Given the description of an element on the screen output the (x, y) to click on. 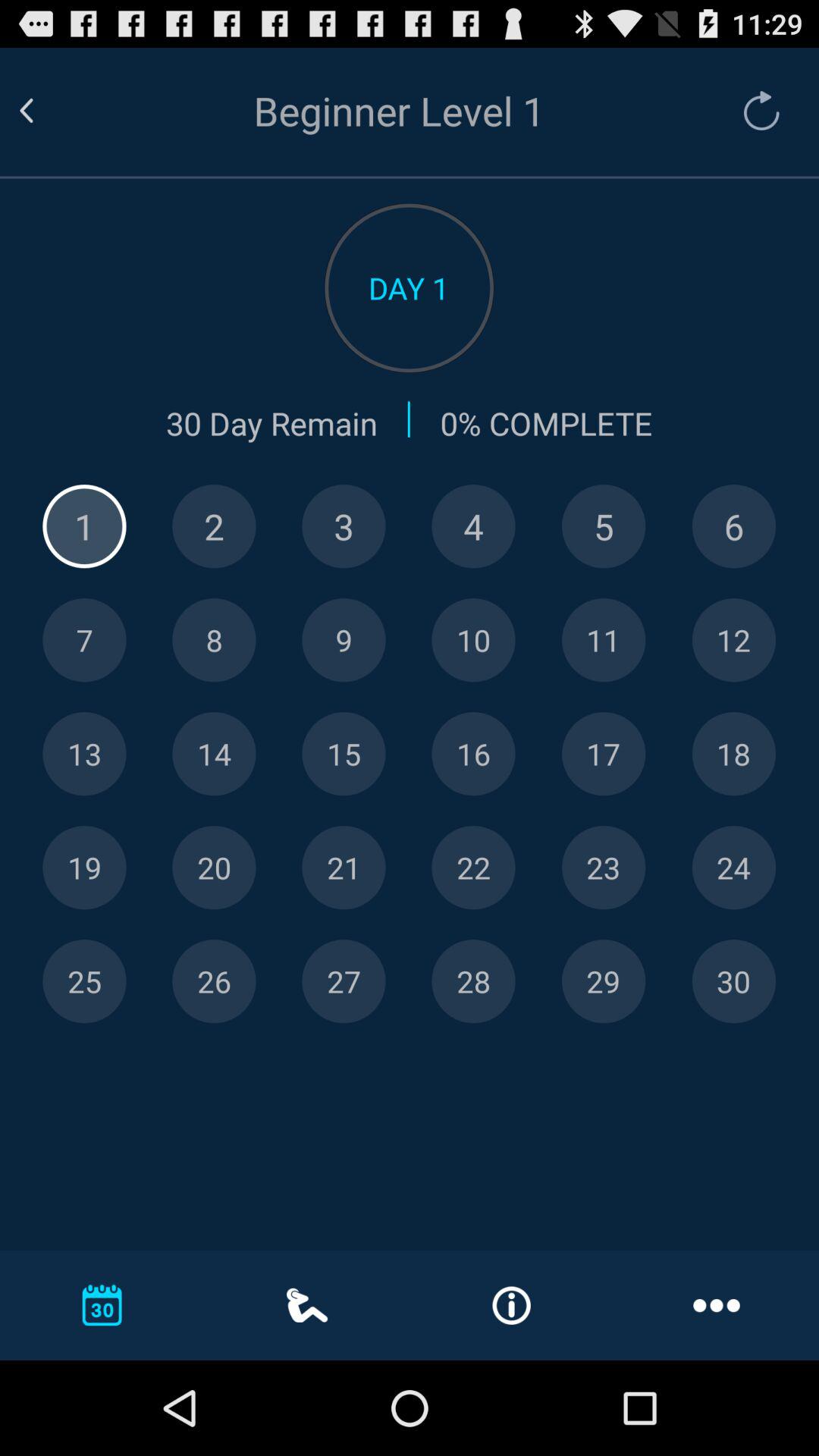
progress button (603, 526)
